Given the description of an element on the screen output the (x, y) to click on. 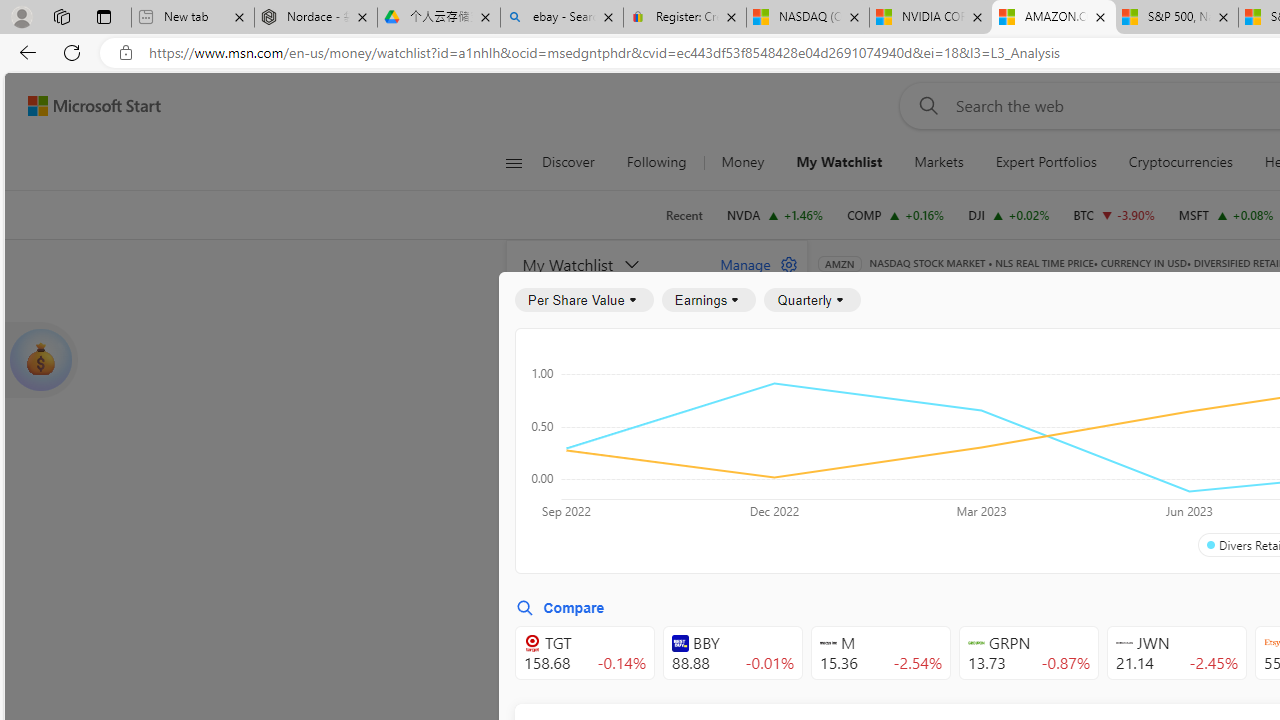
Discover (568, 162)
My Watchlist (610, 264)
Key Ratios (867, 391)
Web search (924, 105)
Annual (865, 503)
Expert Portfolios (1046, 162)
Recent (683, 215)
Tab actions menu (104, 16)
Class: button-glyph (513, 162)
Skip to content (86, 105)
Per Share Values (934, 445)
Money (742, 162)
